Given the description of an element on the screen output the (x, y) to click on. 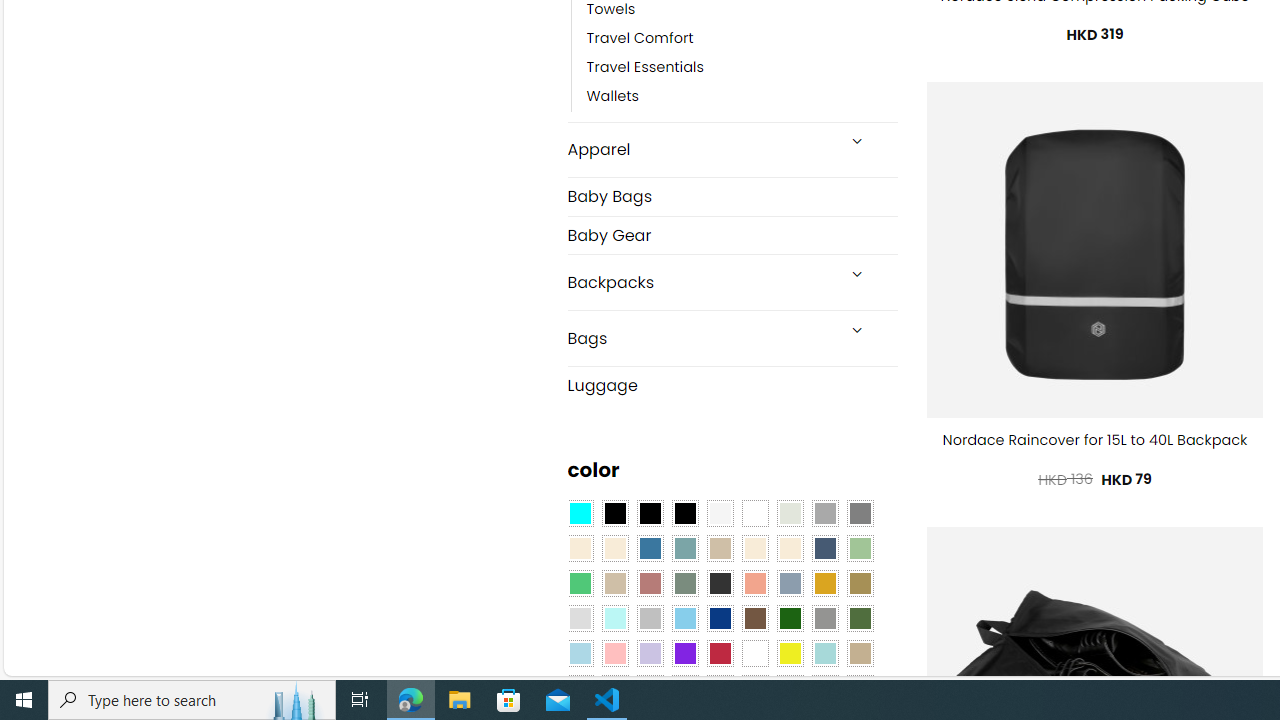
Dark Green (789, 619)
Nordace Raincover for 15L to 40L Backpack (1095, 440)
Pink (614, 653)
Hale Navy (824, 548)
Dusty Blue (789, 583)
Caramel (755, 548)
